Given the description of an element on the screen output the (x, y) to click on. 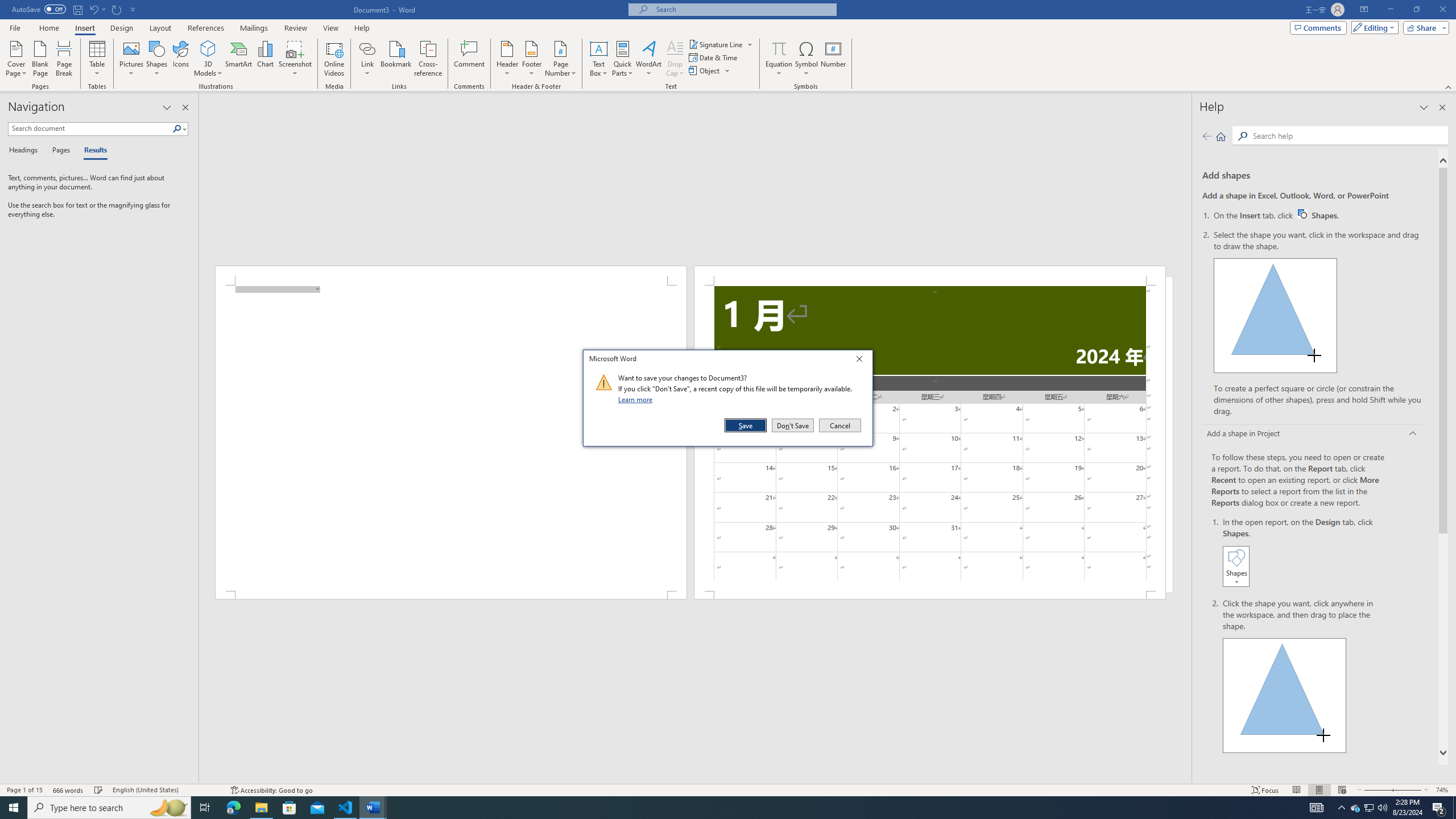
Icons (180, 58)
Class: MsoCommandBar (728, 789)
Layout (160, 28)
Symbol (806, 58)
Search document (89, 128)
Undo New Page (96, 9)
Accessibility Checker Accessibility: Good to go (271, 790)
Minimize (1390, 9)
Comment (469, 58)
Print Layout (1318, 790)
Signature Line (716, 44)
Spelling and Grammar Check Checking (98, 790)
Chart... (265, 58)
File Tab (15, 27)
